Given the description of an element on the screen output the (x, y) to click on. 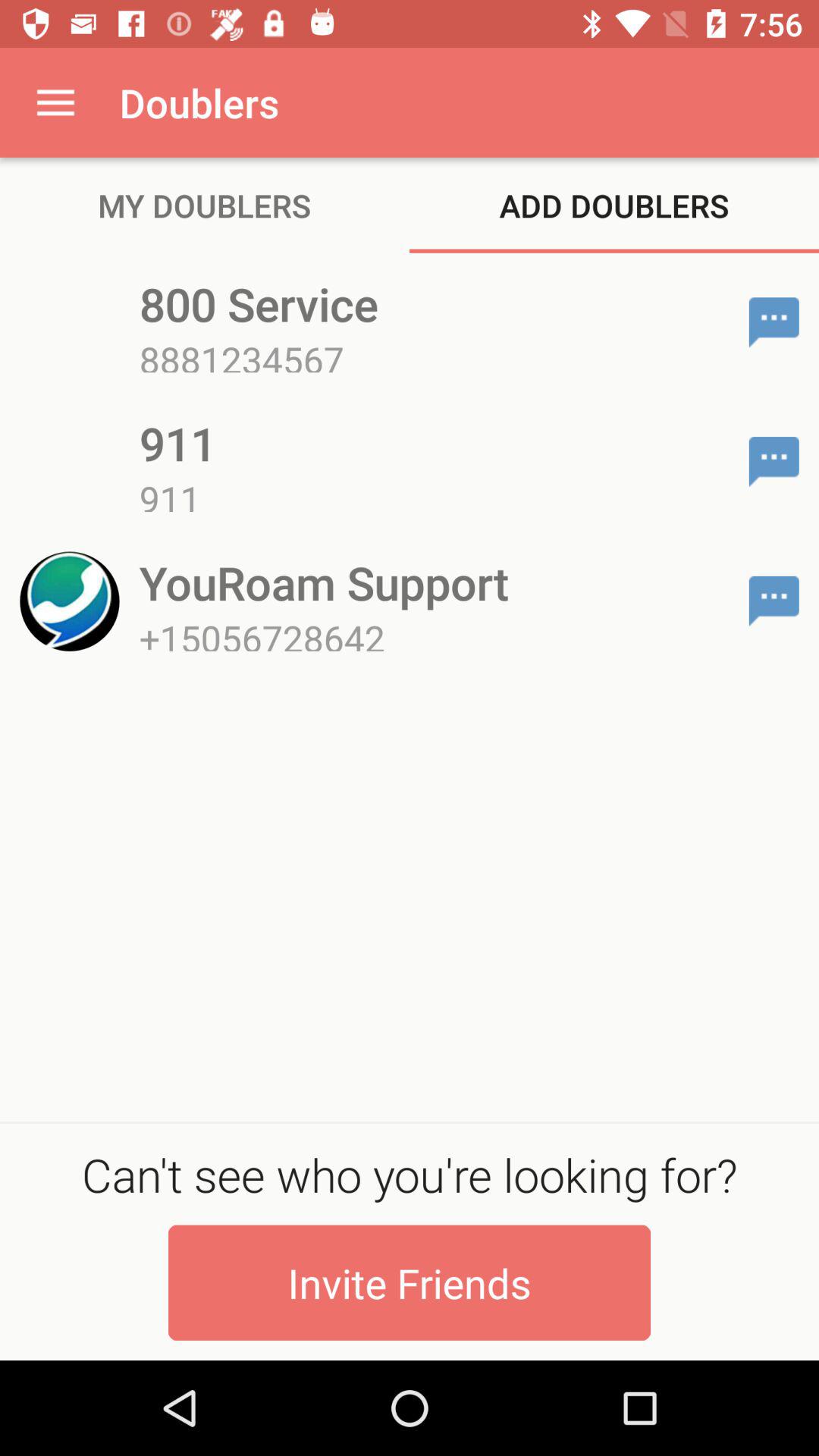
compose message (774, 322)
